Given the description of an element on the screen output the (x, y) to click on. 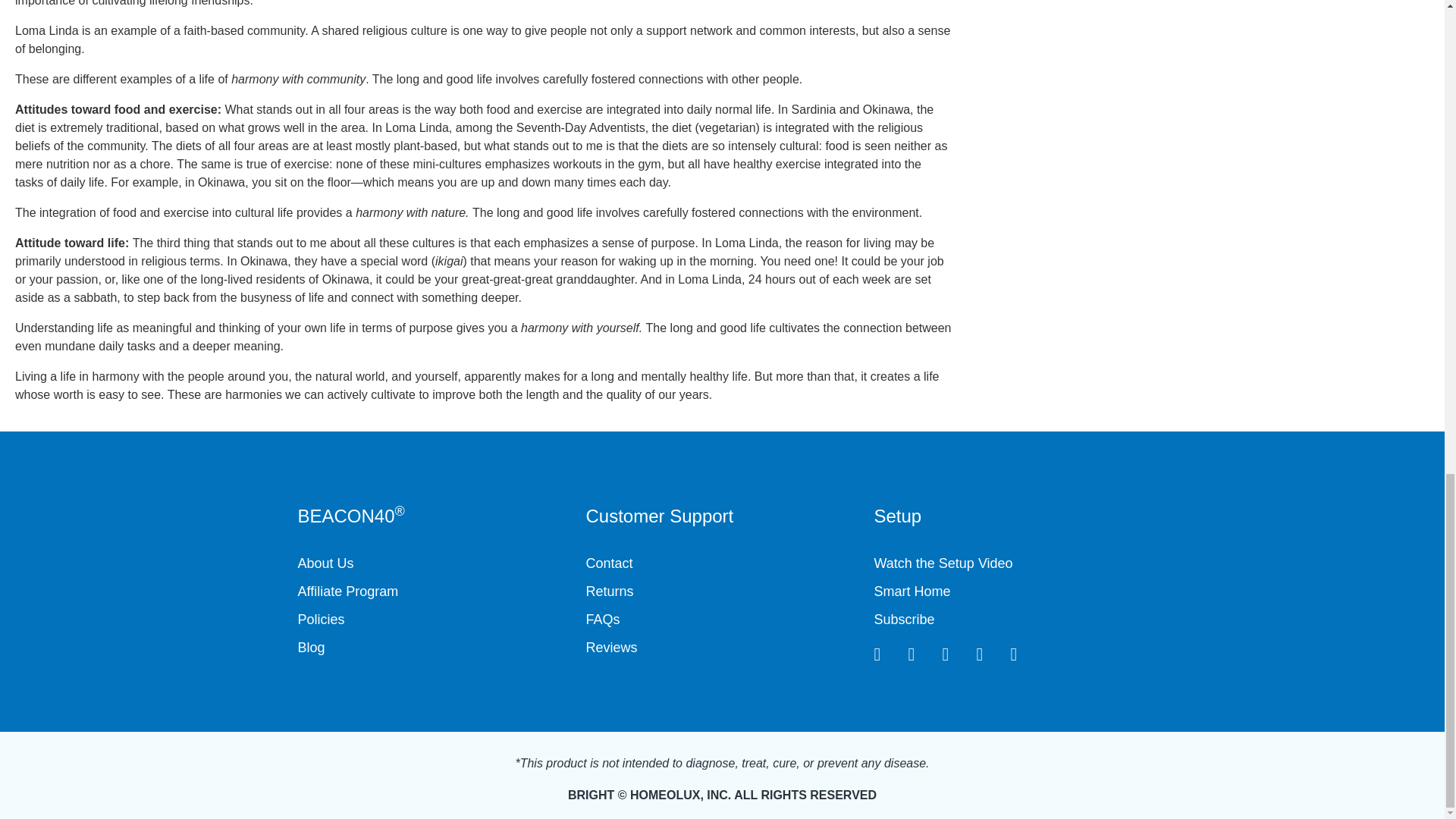
About Us (433, 563)
Returns (722, 591)
Blog (433, 648)
Policies (433, 619)
Reviews (722, 648)
Affiliate Program (433, 591)
FAQs (722, 619)
Contact (722, 563)
